Given the description of an element on the screen output the (x, y) to click on. 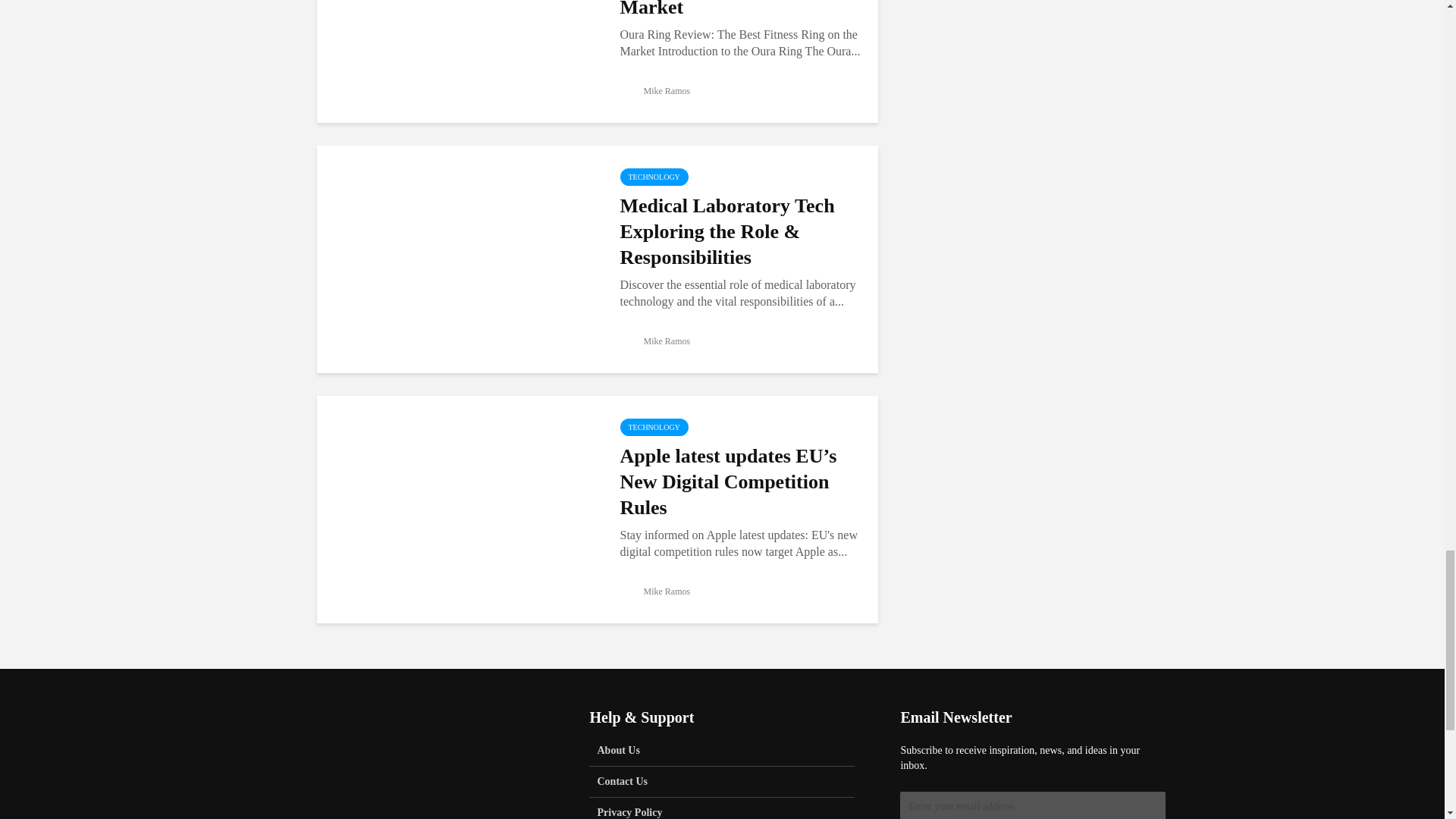
Oura Ring Review: The Best Fitness Ring on the Market (456, 7)
Mike Ramos (655, 340)
Mike Ramos (655, 591)
TECHNOLOGY (654, 426)
TECHNOLOGY (654, 176)
Oura Ring Review: The Best Fitness Ring on the Market (740, 10)
Mike Ramos (655, 90)
